Given the description of an element on the screen output the (x, y) to click on. 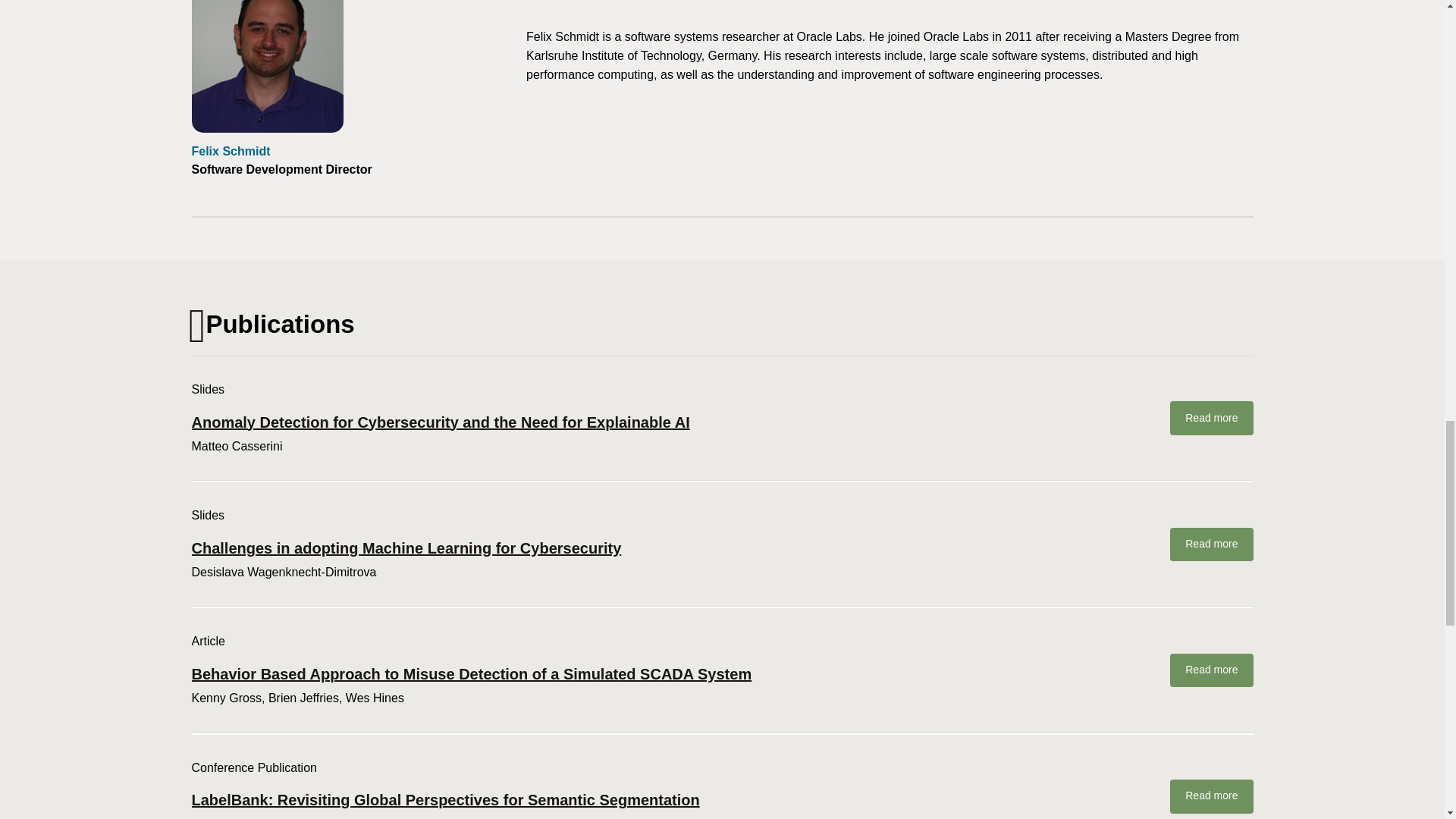
Read more (1211, 670)
Felix Schmidt (229, 151)
Read more (1211, 544)
Read more (1211, 796)
Challenges in adopting Machine Learning for Cybersecurity (665, 547)
Read more (1211, 417)
